Given the description of an element on the screen output the (x, y) to click on. 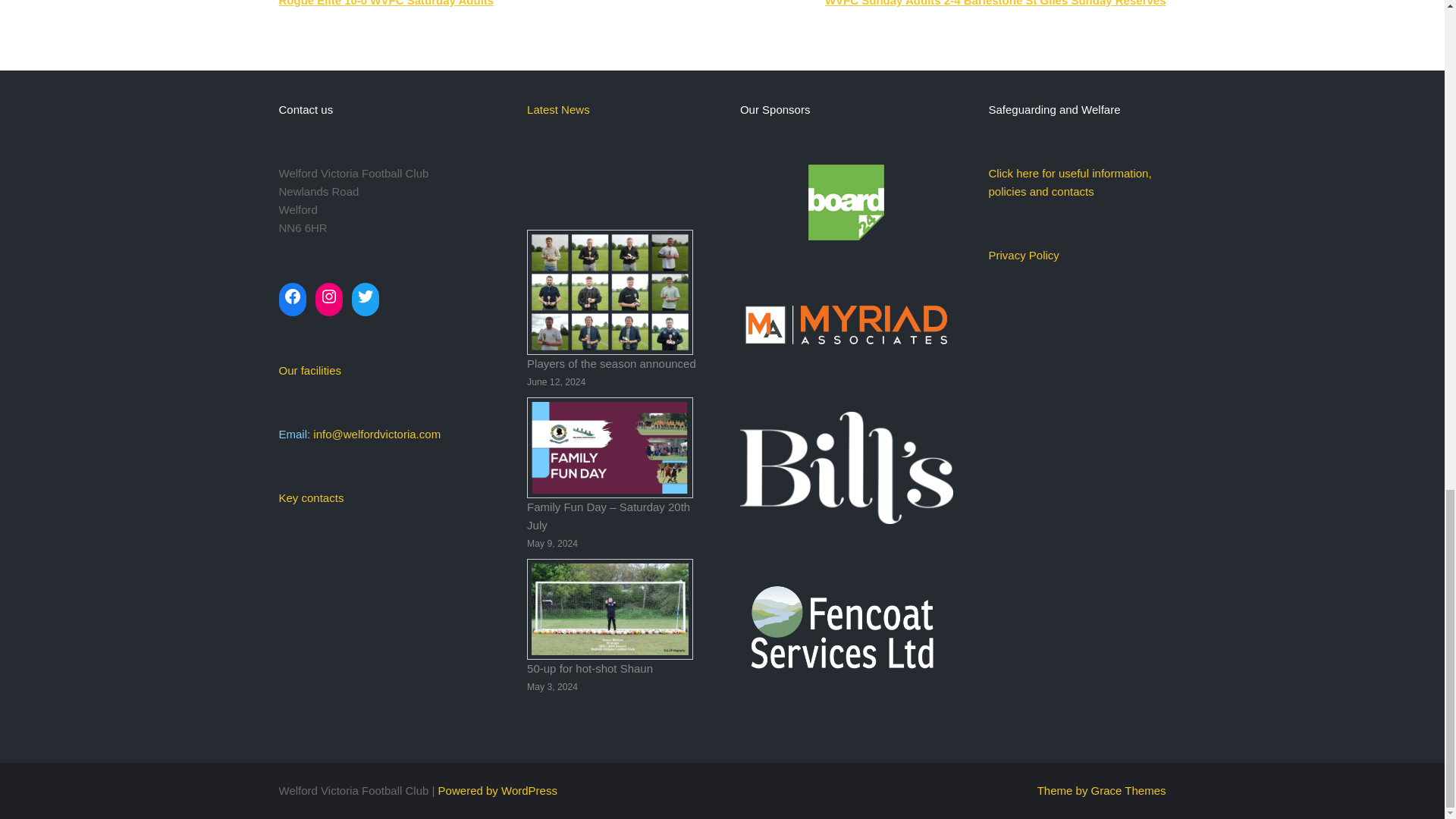
Rogue Elite 10-0 WVFC Saturday Adults (387, 3)
Key contacts (311, 497)
Instagram (328, 296)
WVFC Sunday Adults 2-4 Barlestone St Giles Sunday Reserves (995, 3)
Facebook (292, 296)
Our facilities (310, 369)
Twitter (365, 296)
